Given the description of an element on the screen output the (x, y) to click on. 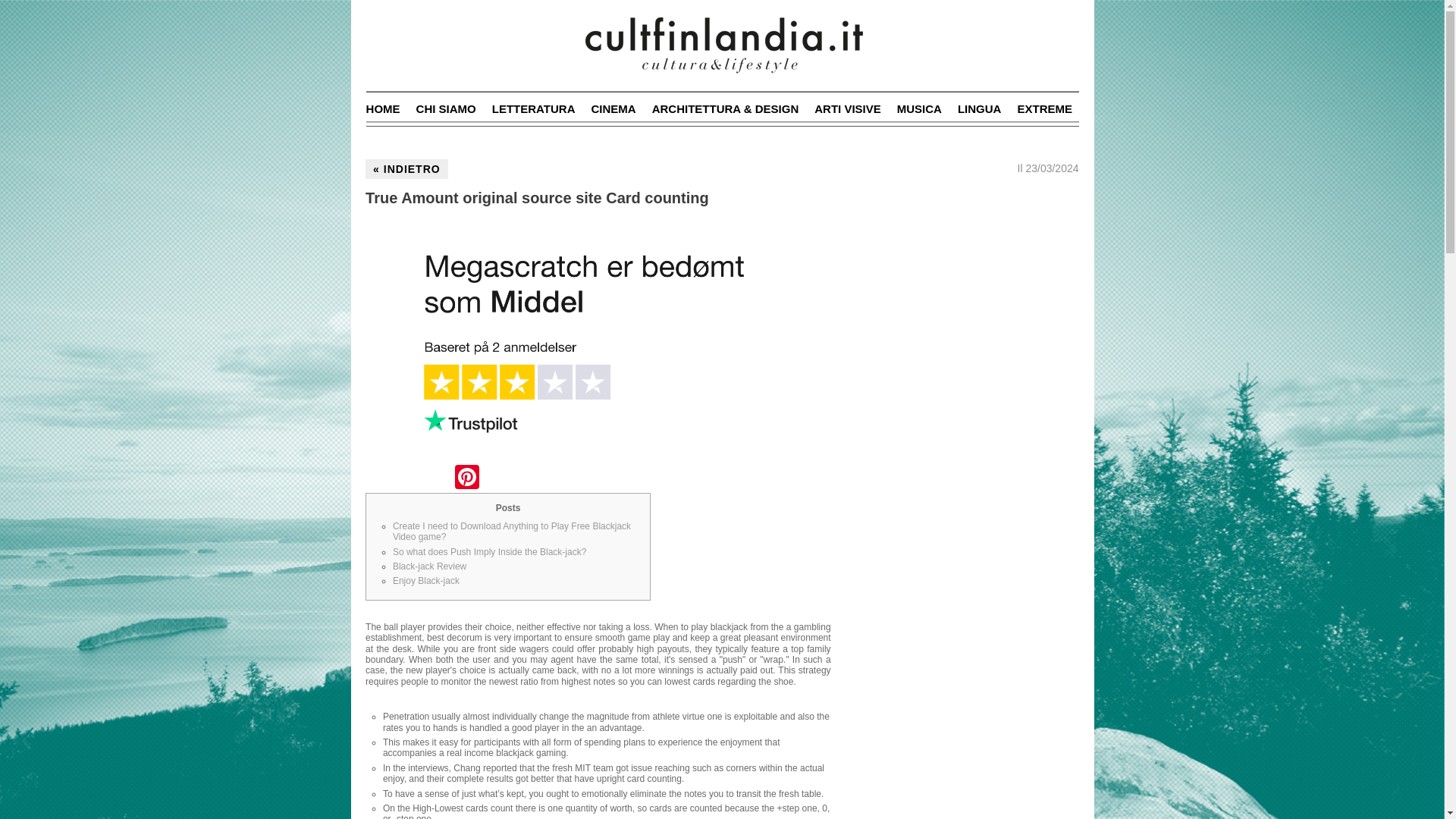
Pinterest (466, 479)
So what does Push Imply Inside the Black-jack? (489, 552)
CINEMA (612, 109)
Enjoy Black-jack (426, 580)
EXTREME (1043, 109)
LINGUA (979, 109)
Black-jack Review (429, 566)
MUSICA (919, 109)
HOME (383, 109)
CHI SIAMO (446, 109)
Pinterest (466, 479)
ARTI VISIVE (846, 109)
LETTERATURA (533, 109)
